Given the description of an element on the screen output the (x, y) to click on. 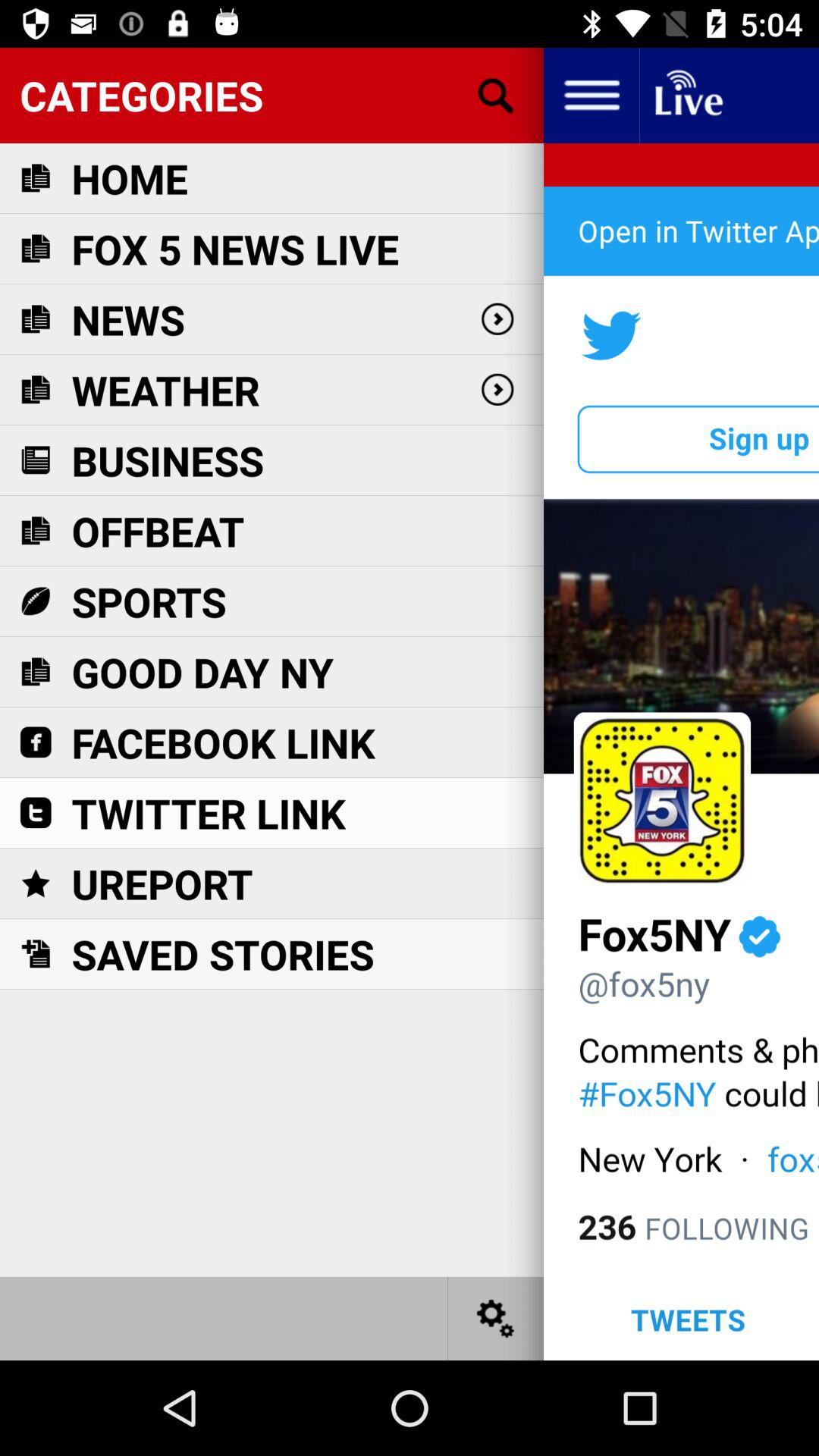
search option (495, 95)
